Given the description of an element on the screen output the (x, y) to click on. 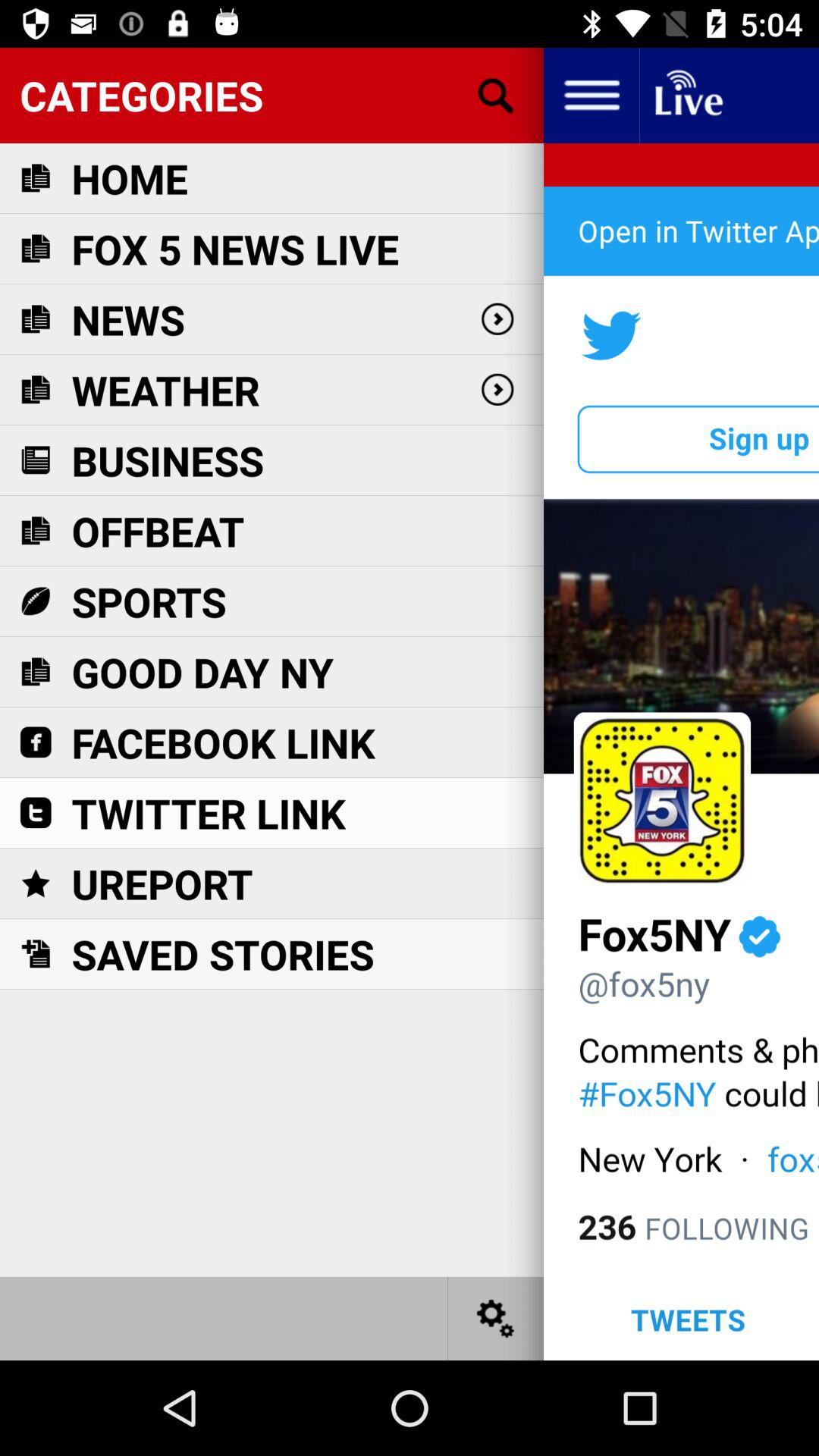
search option (495, 95)
